Given the description of an element on the screen output the (x, y) to click on. 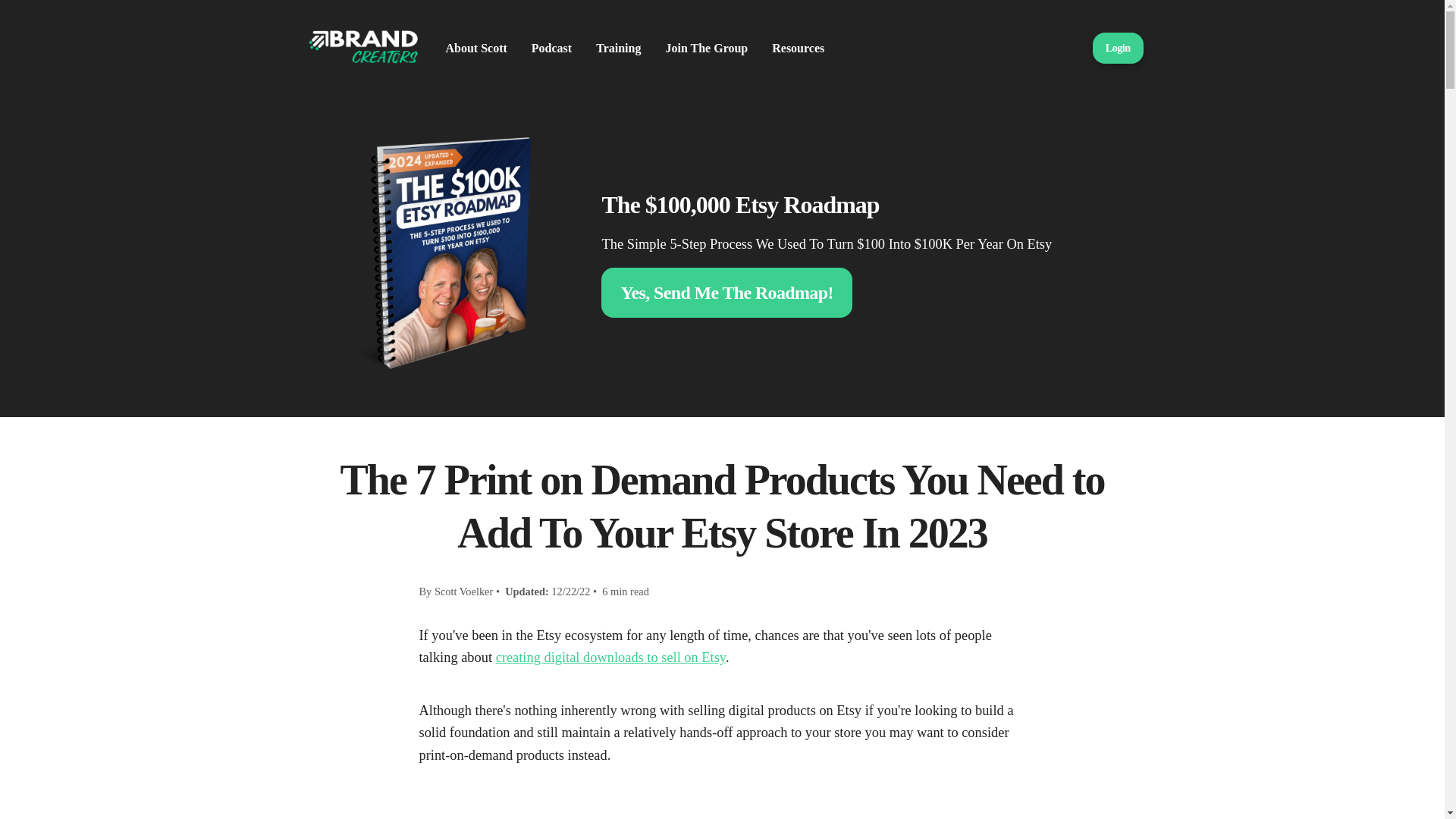
About Scott (475, 48)
Join The Group (706, 48)
Login (1117, 47)
Resources (797, 48)
Training (617, 48)
Yes, Send Me The Roadmap! (726, 292)
Podcast (551, 48)
creating digital downloads to sell on Etsy (610, 657)
